Given the description of an element on the screen output the (x, y) to click on. 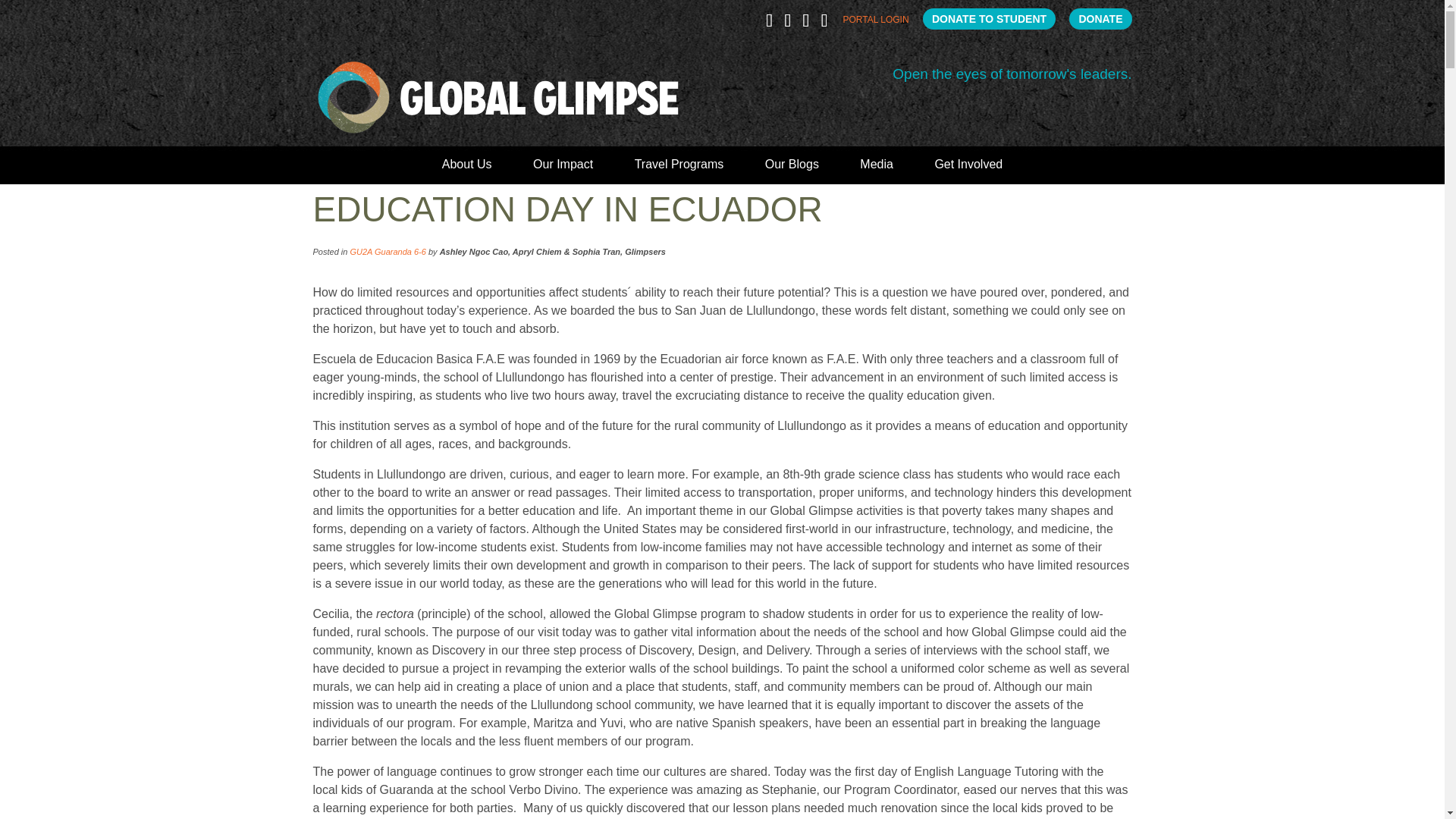
Travel Programs (678, 169)
Our Blogs (791, 169)
DONATE (1099, 18)
PORTAL LOGIN (875, 23)
Our Impact (562, 169)
About Us (467, 169)
Get Involved (968, 169)
Media (876, 169)
DONATE TO STUDENT (989, 18)
